Given the description of an element on the screen output the (x, y) to click on. 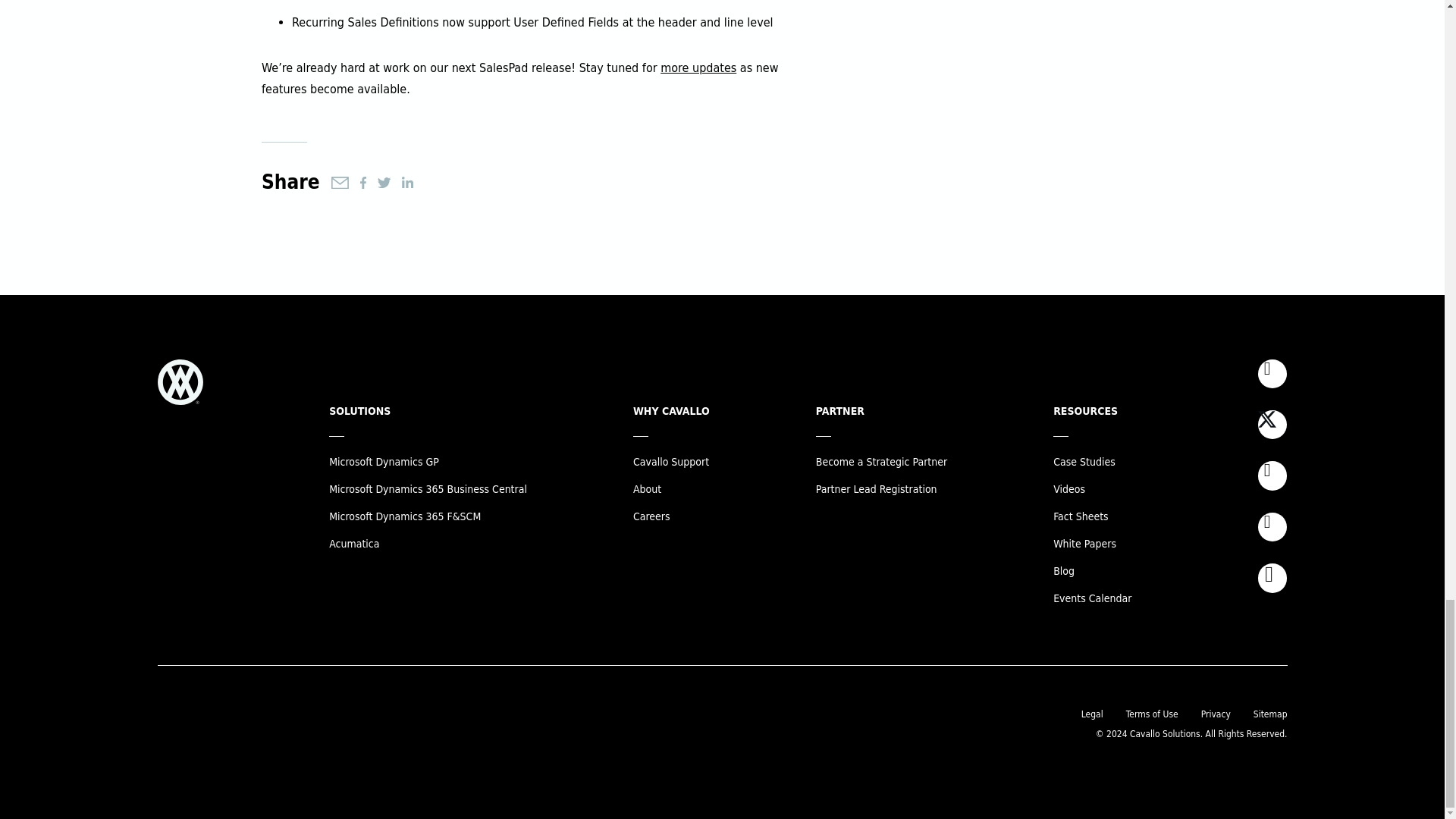
Share on LinkedIn (407, 182)
Share through Email (340, 182)
Share on Twitter (383, 182)
